Given the description of an element on the screen output the (x, y) to click on. 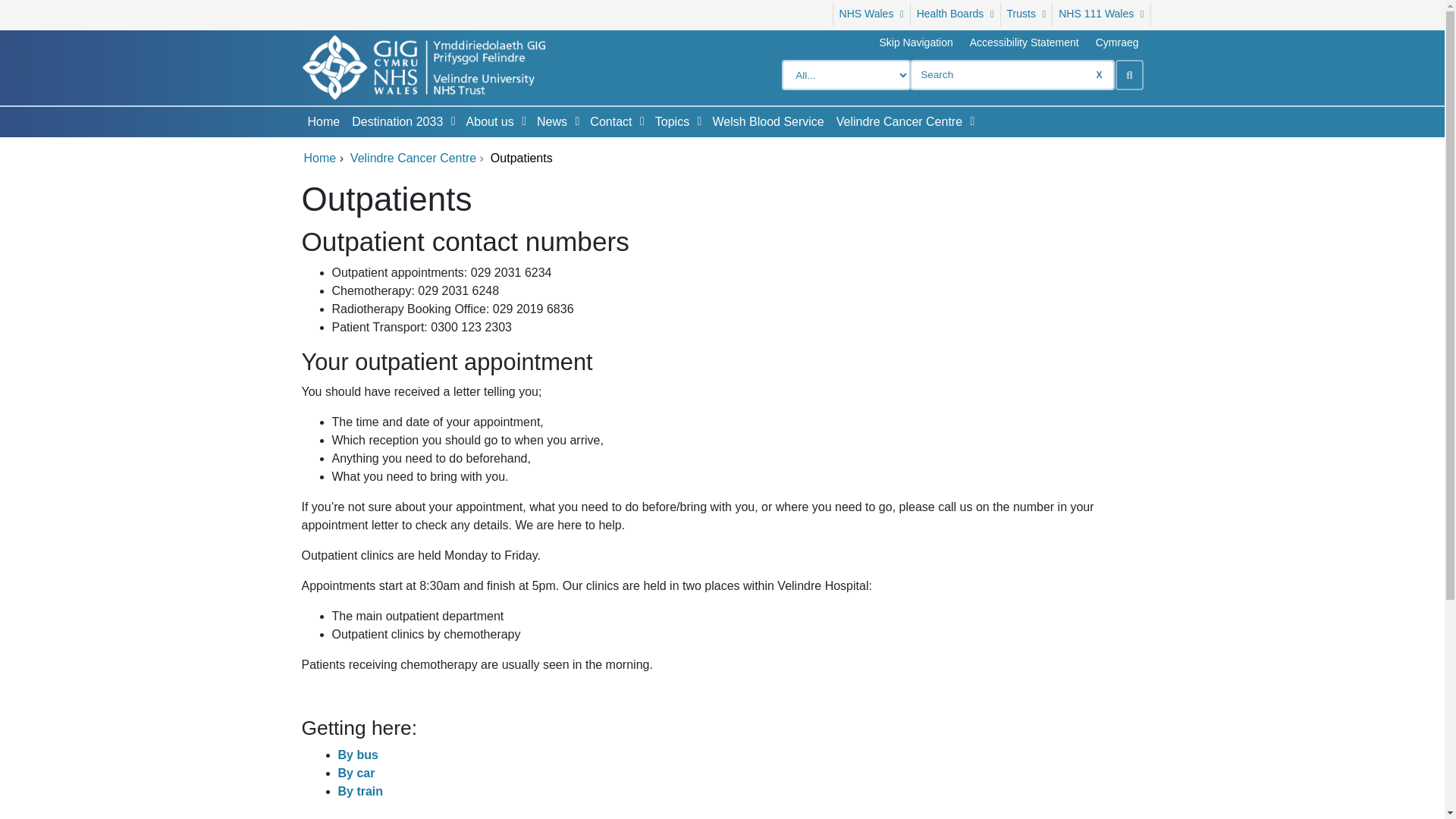
Search (1128, 74)
Destination 2033 (394, 122)
Cymraeg (1117, 42)
Show Submenu For Destination 2033 (453, 120)
Show Submenu For Contact (641, 120)
Accessibility Statement (1024, 42)
Show Submenu For News (576, 120)
NHS Wales (871, 13)
Show Submenu For About us (523, 120)
NHS 111 Wales (1101, 13)
About us (486, 122)
Contact (607, 122)
Trusts (1026, 13)
Skip Navigation (914, 42)
News (549, 122)
